Given the description of an element on the screen output the (x, y) to click on. 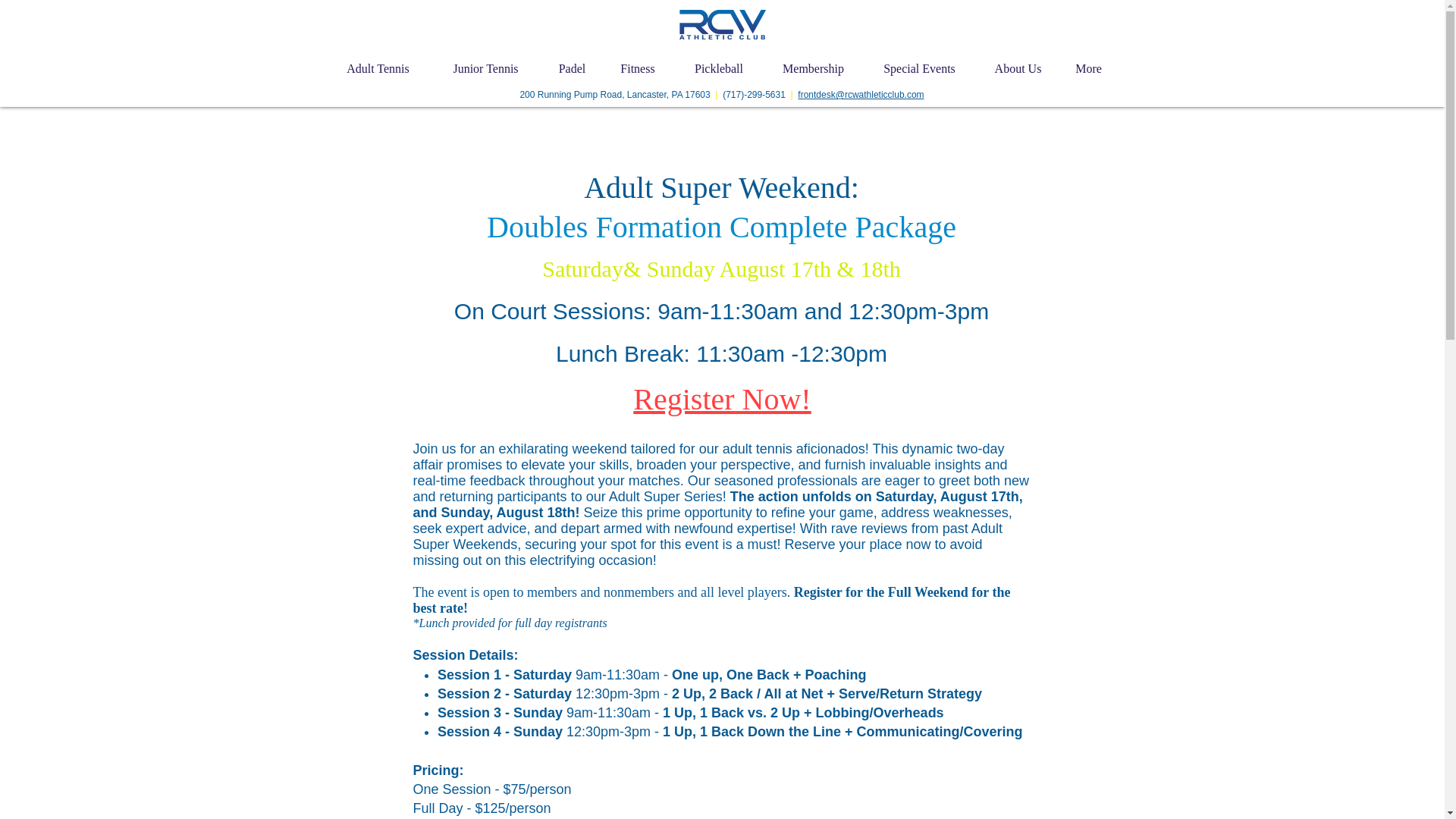
Register Now! (721, 399)
Special Events (918, 68)
Membership (812, 68)
Padel (571, 68)
Fitness (637, 68)
